Given the description of an element on the screen output the (x, y) to click on. 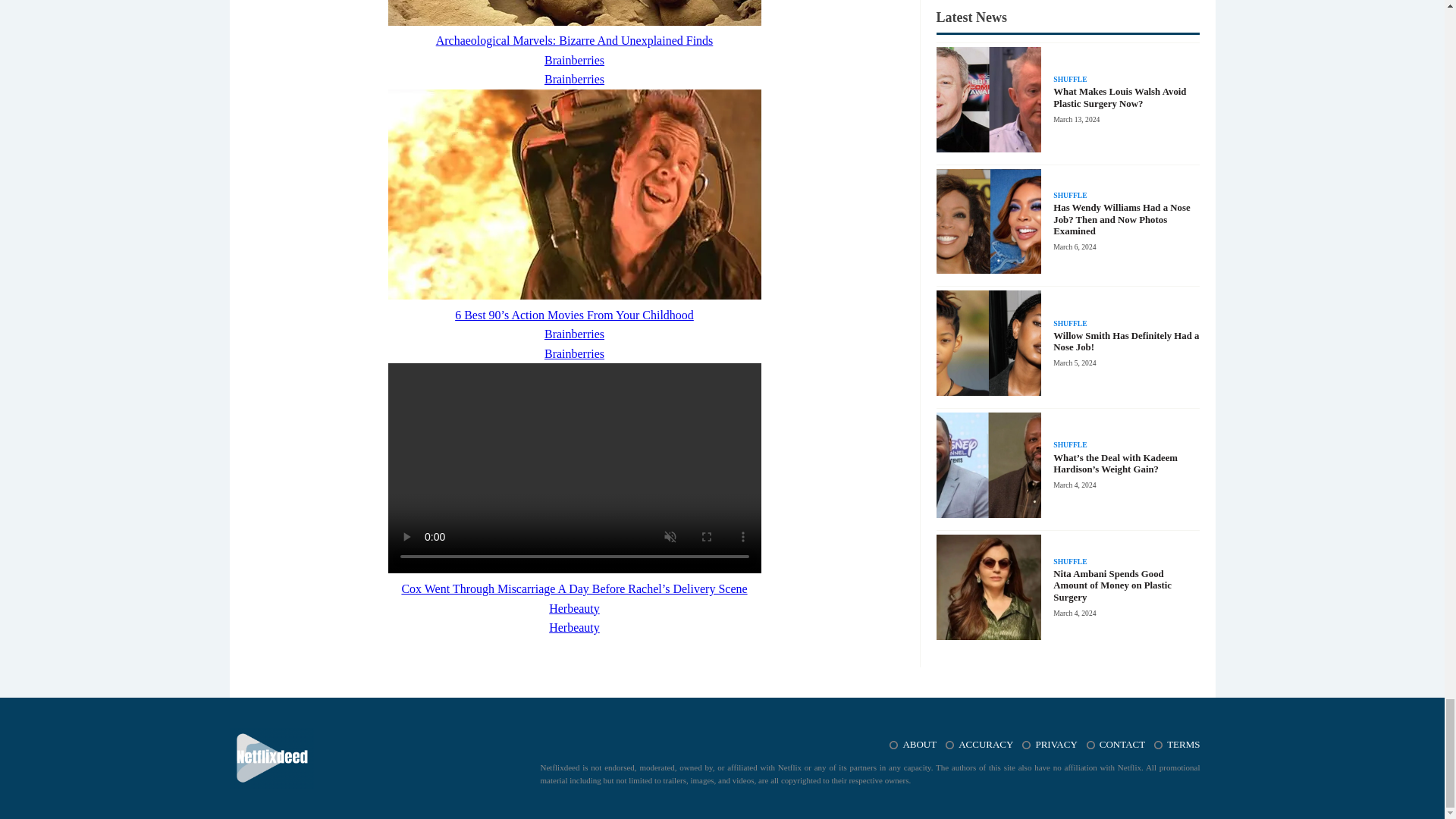
ACCURACY (990, 744)
PRIVACY (1059, 744)
ABOUT (923, 744)
